Given the description of an element on the screen output the (x, y) to click on. 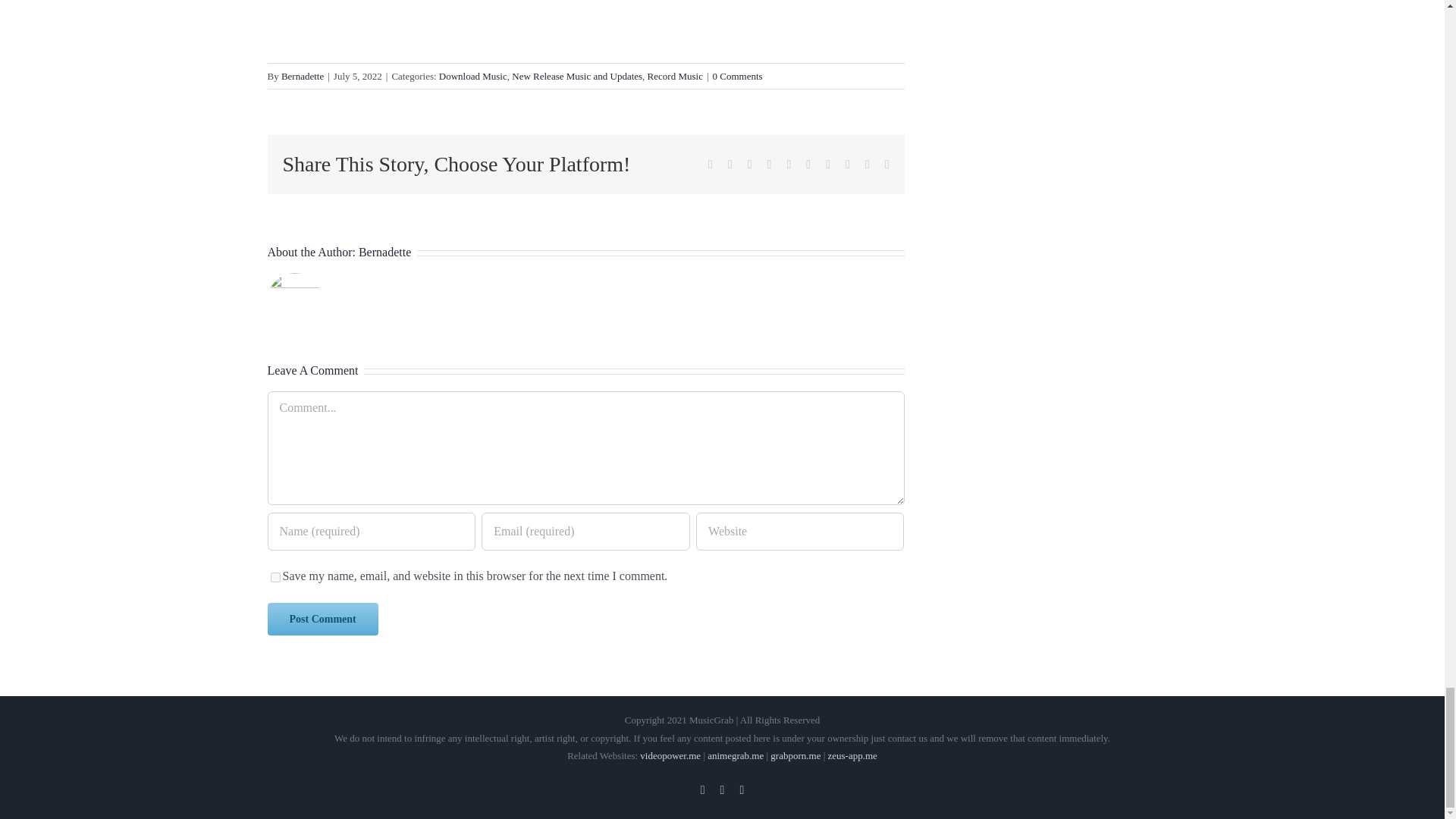
yes (274, 577)
LinkedIn (769, 164)
Pinterest (827, 164)
Reddit (750, 164)
WhatsApp (788, 164)
Post Comment (321, 618)
Facebook (710, 164)
Posts by Bernadette (384, 251)
YouTube (702, 789)
Xing (866, 164)
Tumblr (808, 164)
Email (887, 164)
Vk (847, 164)
Twitter (730, 164)
Twitter (722, 789)
